Given the description of an element on the screen output the (x, y) to click on. 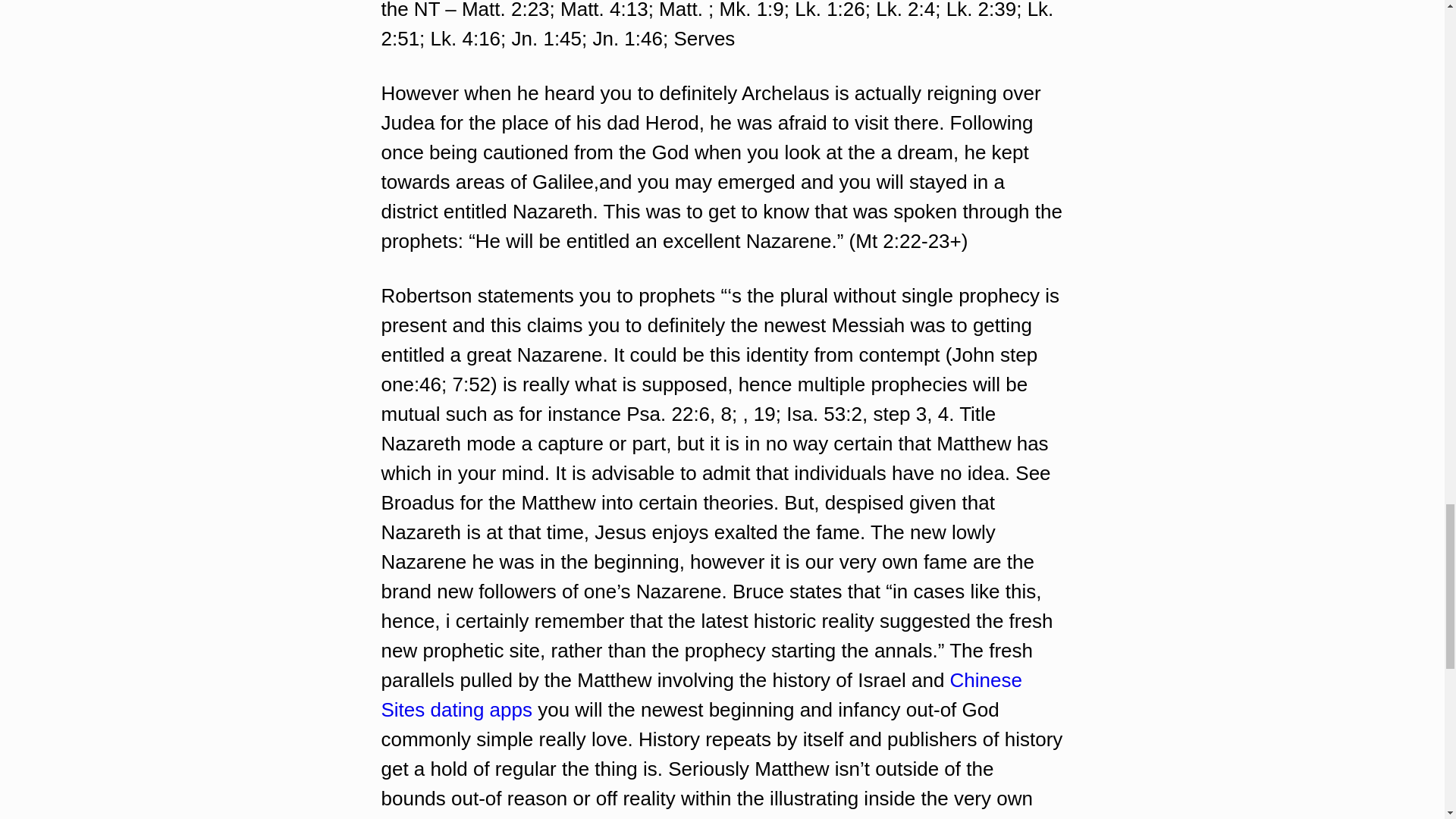
Chinese Sites dating apps (701, 695)
